Given the description of an element on the screen output the (x, y) to click on. 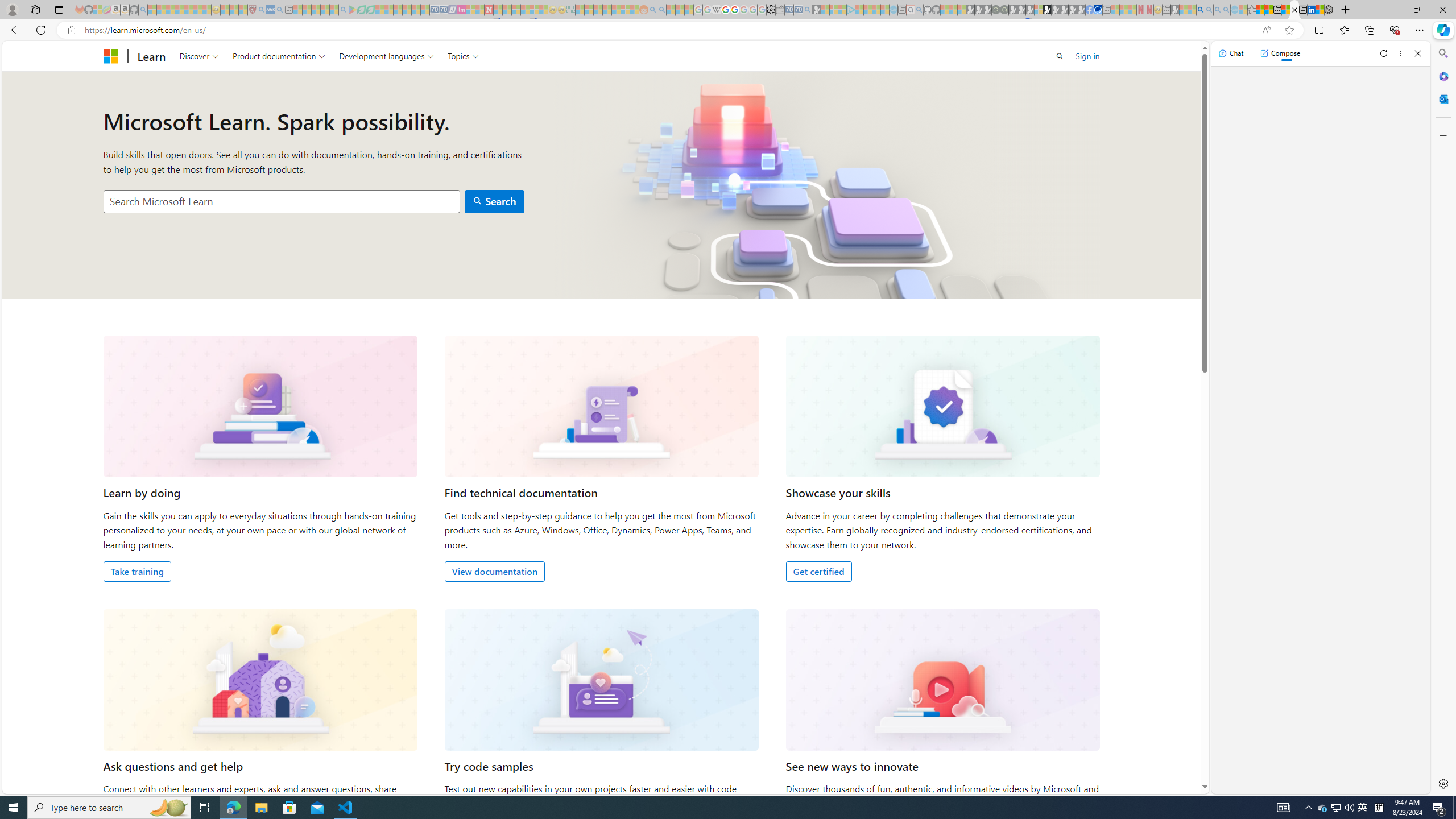
Get certified (817, 571)
Development languages (386, 55)
